Given the description of an element on the screen output the (x, y) to click on. 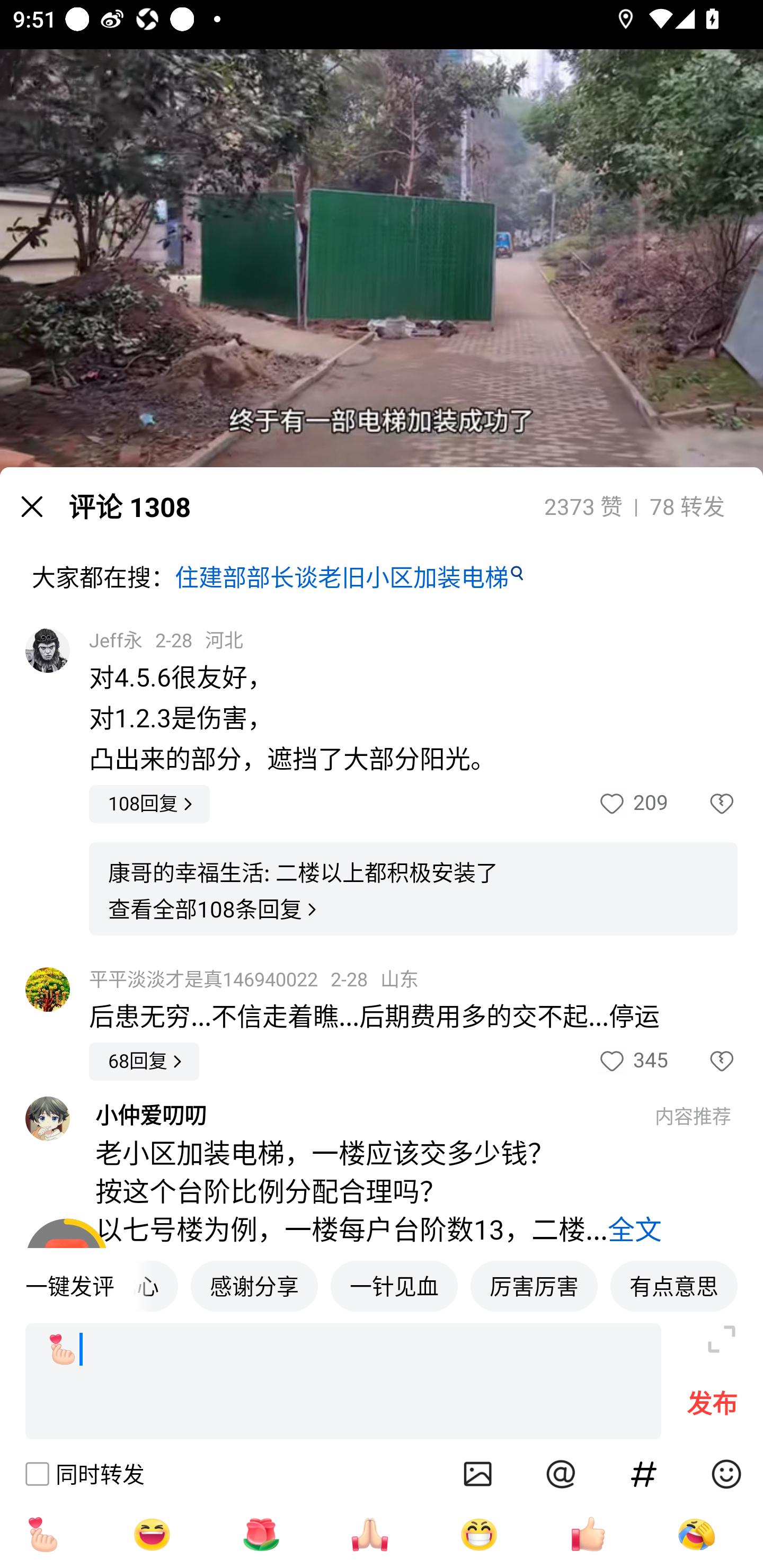
感谢分享 (254, 1285)
一针见血 (393, 1285)
厉害厉害 (533, 1285)
有点意思 (673, 1285)
[比心] (343, 1381)
全屏编辑 (721, 1338)
发布 (711, 1407)
同时转发 (83, 1473)
相册 (478, 1473)
at (560, 1473)
话题 (643, 1473)
表情 (726, 1473)
[比心] (42, 1534)
[大笑] (152, 1534)
[玫瑰] (261, 1534)
[祈祷] (369, 1534)
[呲牙] (478, 1534)
[赞] (588, 1534)
[捂脸] (696, 1534)
